Given the description of an element on the screen output the (x, y) to click on. 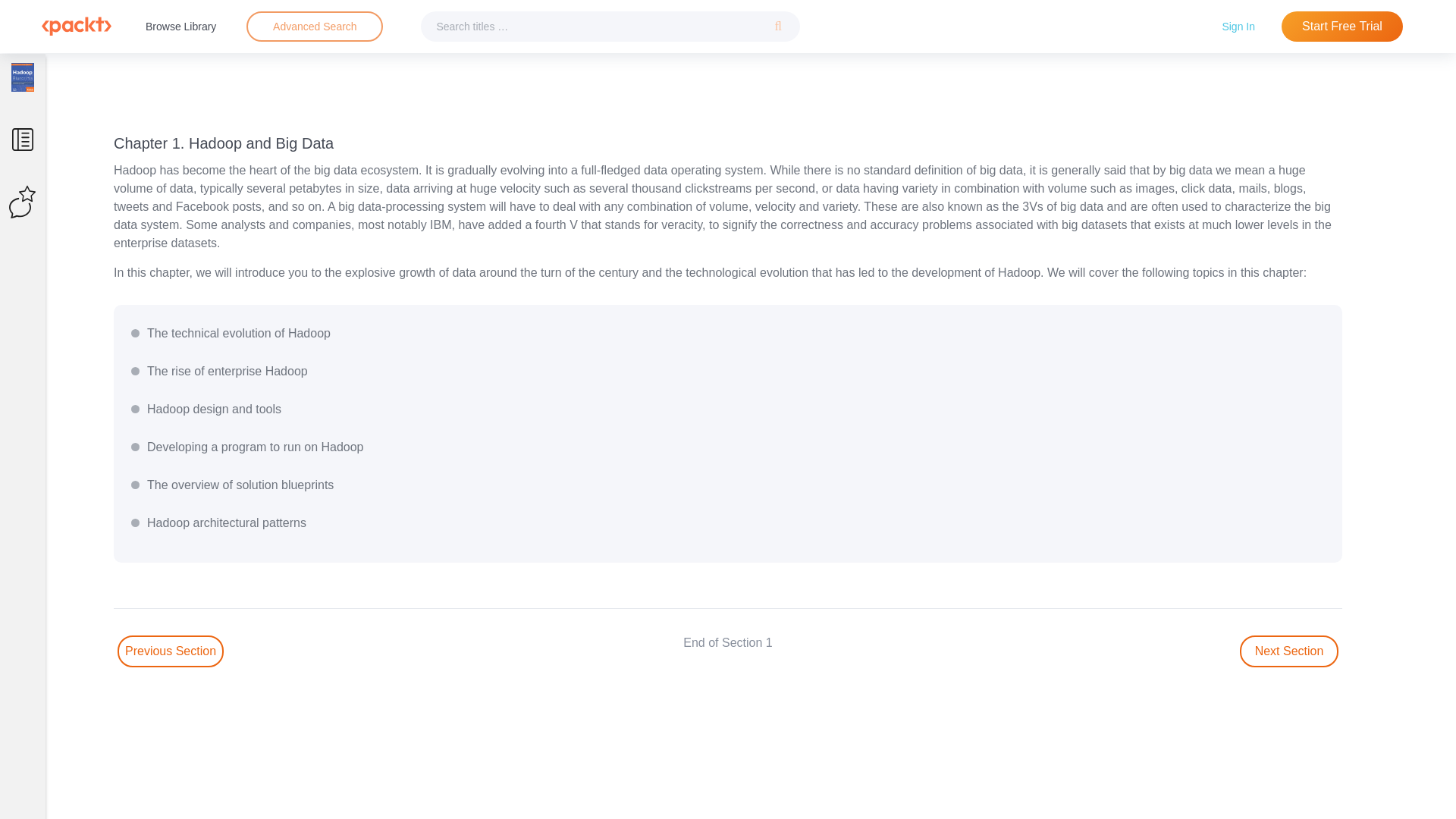
Start Free Trial (1342, 26)
Browse Library (180, 26)
Sign In (1238, 26)
Go to next section (1289, 651)
Advanced Search (314, 26)
Go to Previous section (170, 651)
Advanced search (314, 26)
Advanced Search (315, 26)
